Given the description of an element on the screen output the (x, y) to click on. 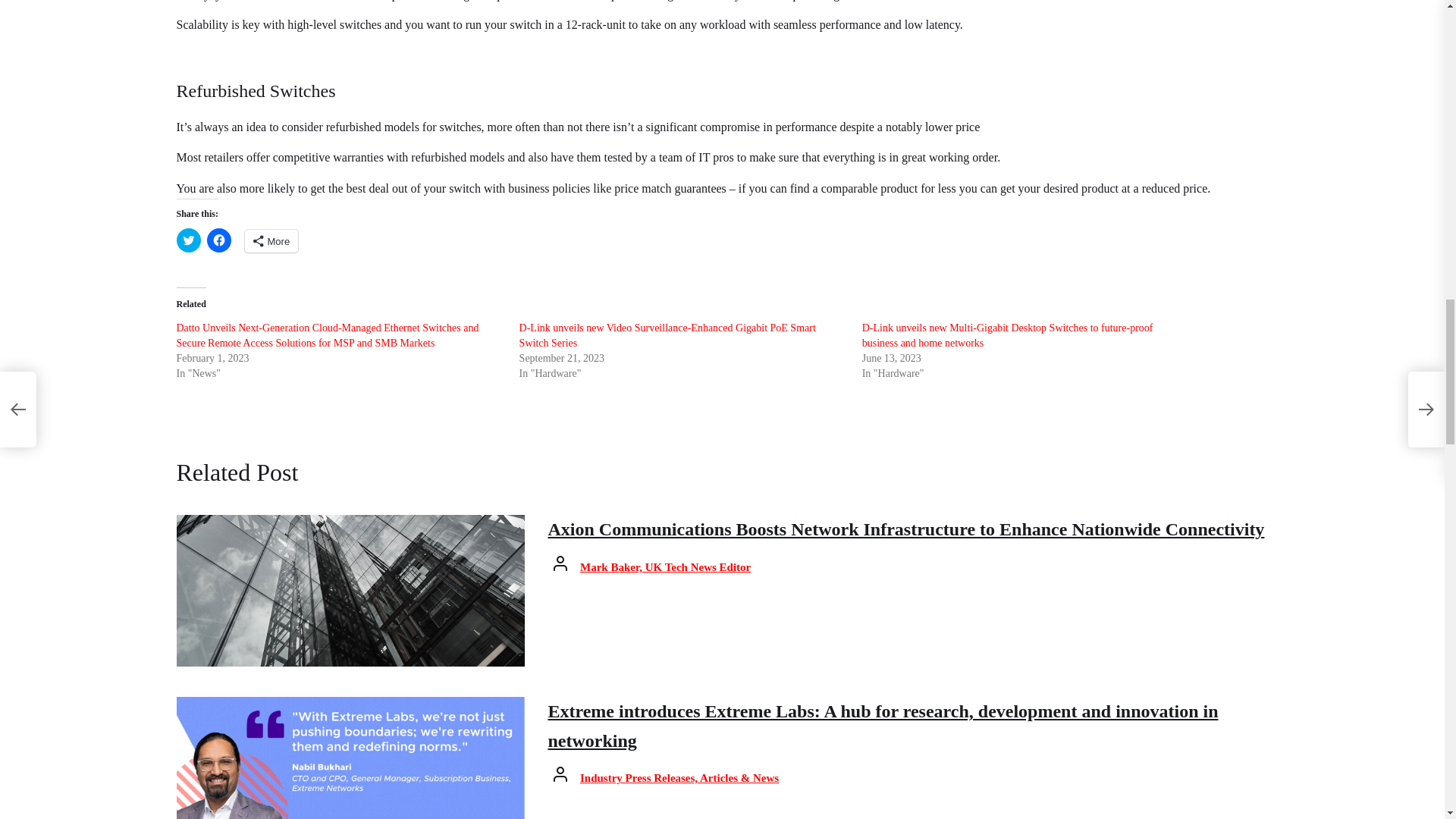
Click to share on Twitter (188, 240)
Click to share on Facebook (218, 240)
